Given the description of an element on the screen output the (x, y) to click on. 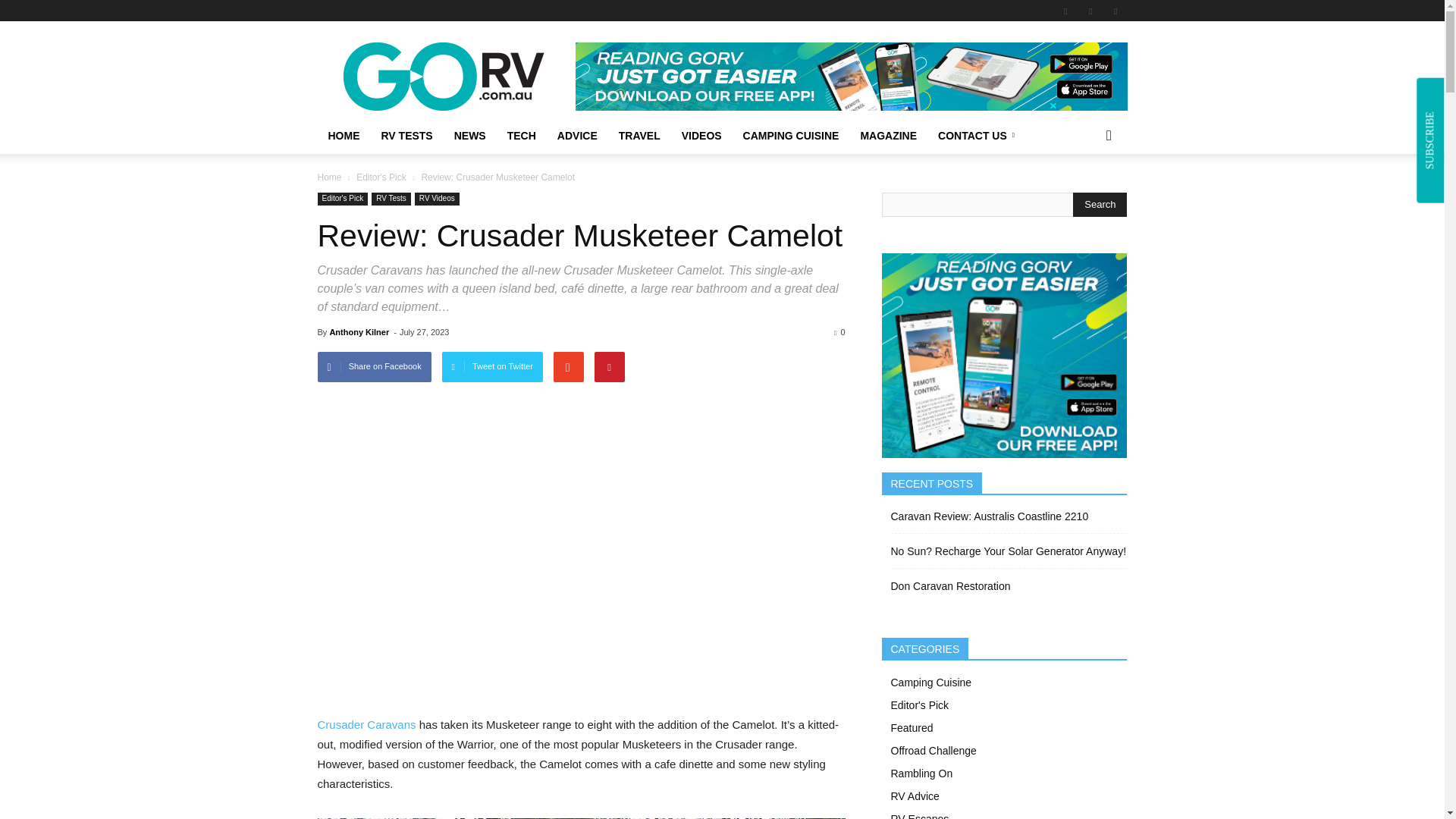
NEWS (470, 135)
ADVICE (577, 135)
VIDEOS (701, 135)
CAMPING CUISINE (791, 135)
View all posts in Editor's Pick (381, 176)
MAGAZINE (887, 135)
Instagram (1090, 10)
CONTACT US (978, 135)
GoRV.com.au (445, 76)
RV TESTS (405, 135)
HOME (343, 135)
Facebook (1065, 10)
Youtube (1114, 10)
TECH (521, 135)
Search (1099, 204)
